Given the description of an element on the screen output the (x, y) to click on. 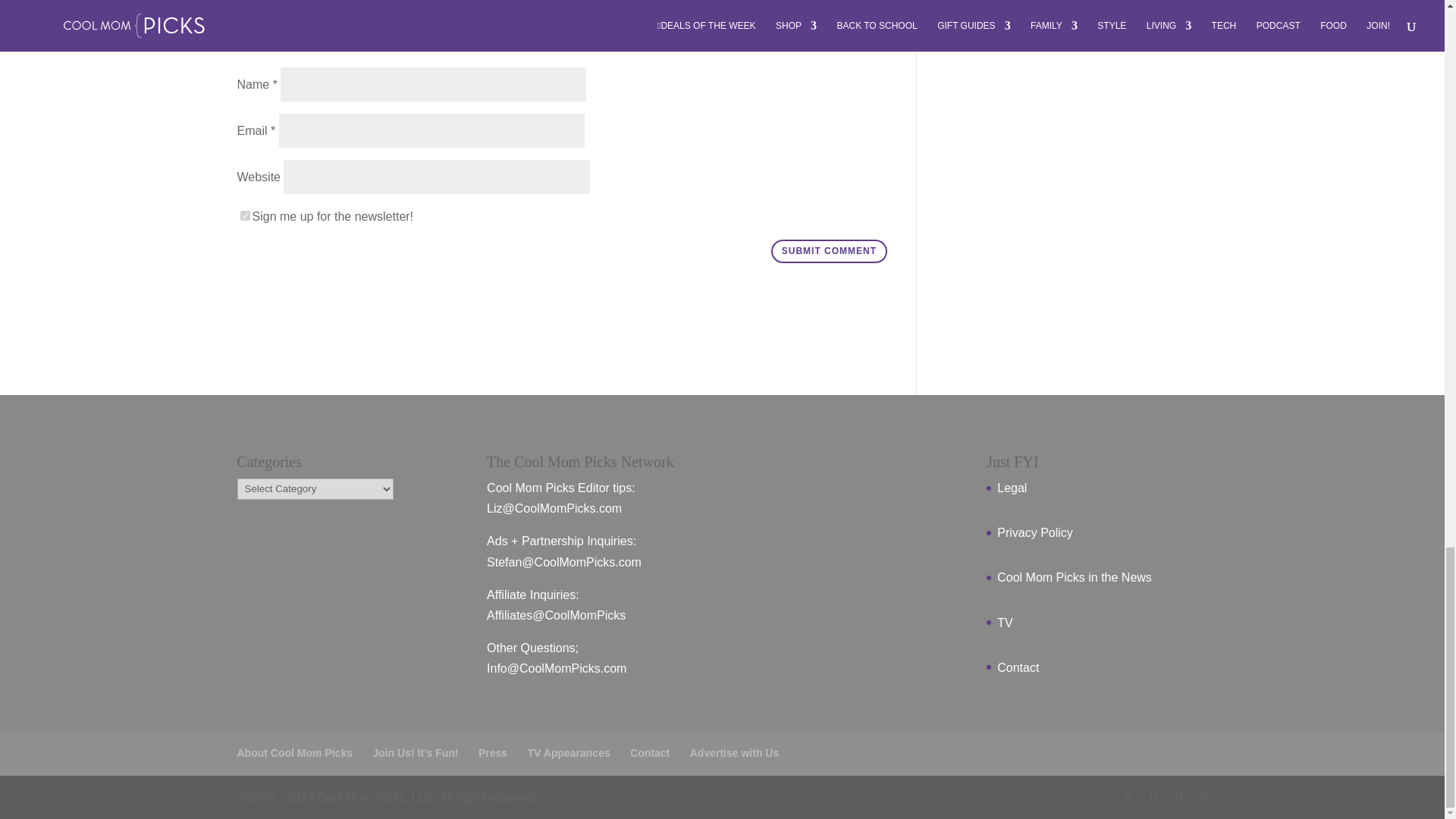
Submit Comment (828, 251)
1 (244, 215)
About Cool Mom Picks (293, 752)
